Given the description of an element on the screen output the (x, y) to click on. 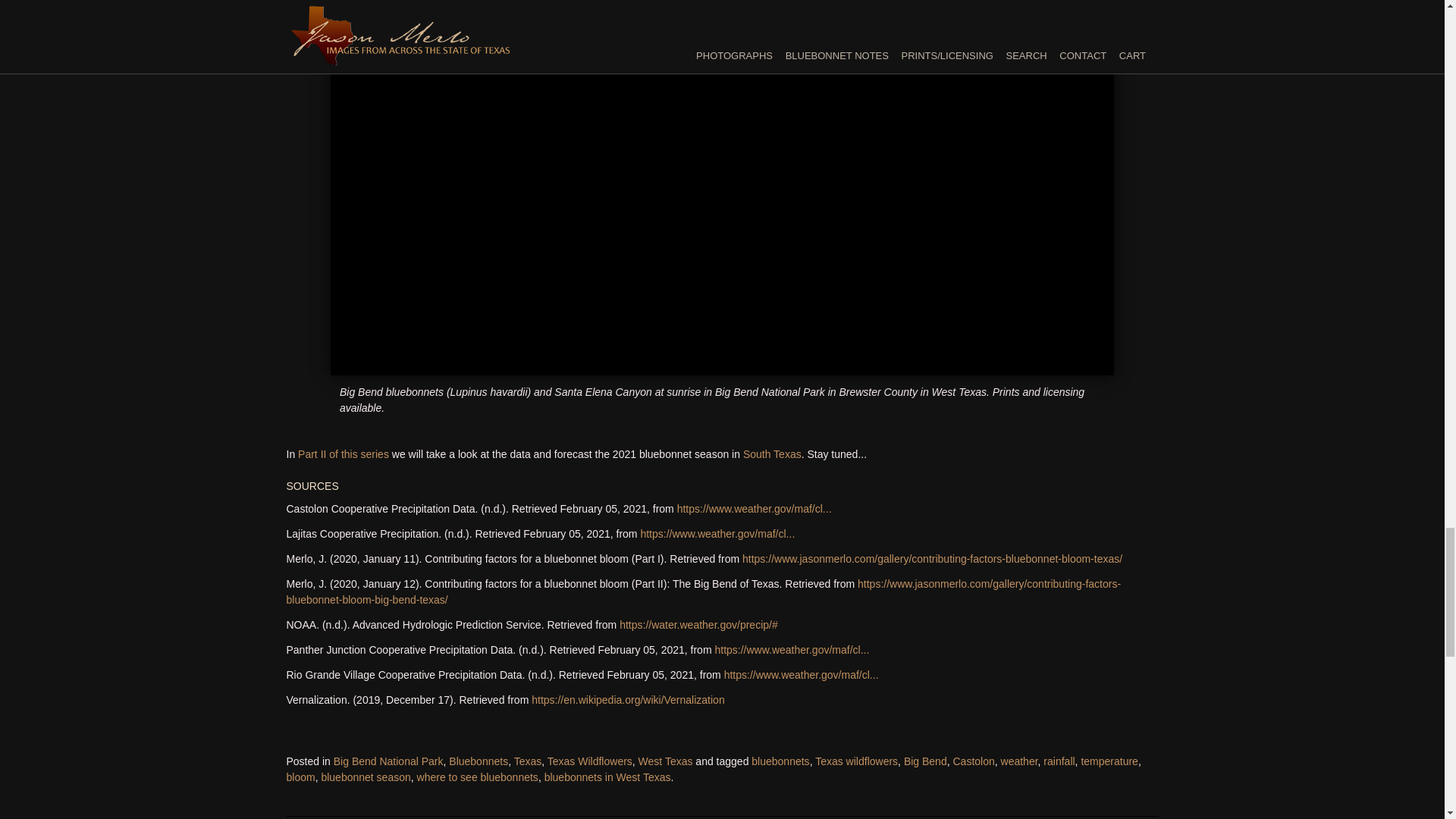
Texas Wildflowers (589, 761)
Big Bend National Park (388, 761)
Part II of this series (343, 453)
South Texas (772, 453)
Big Bend (925, 761)
West Texas (666, 761)
Texas wildflowers (856, 761)
Texas (527, 761)
bluebonnets (780, 761)
Bluebonnets (478, 761)
